Given the description of an element on the screen output the (x, y) to click on. 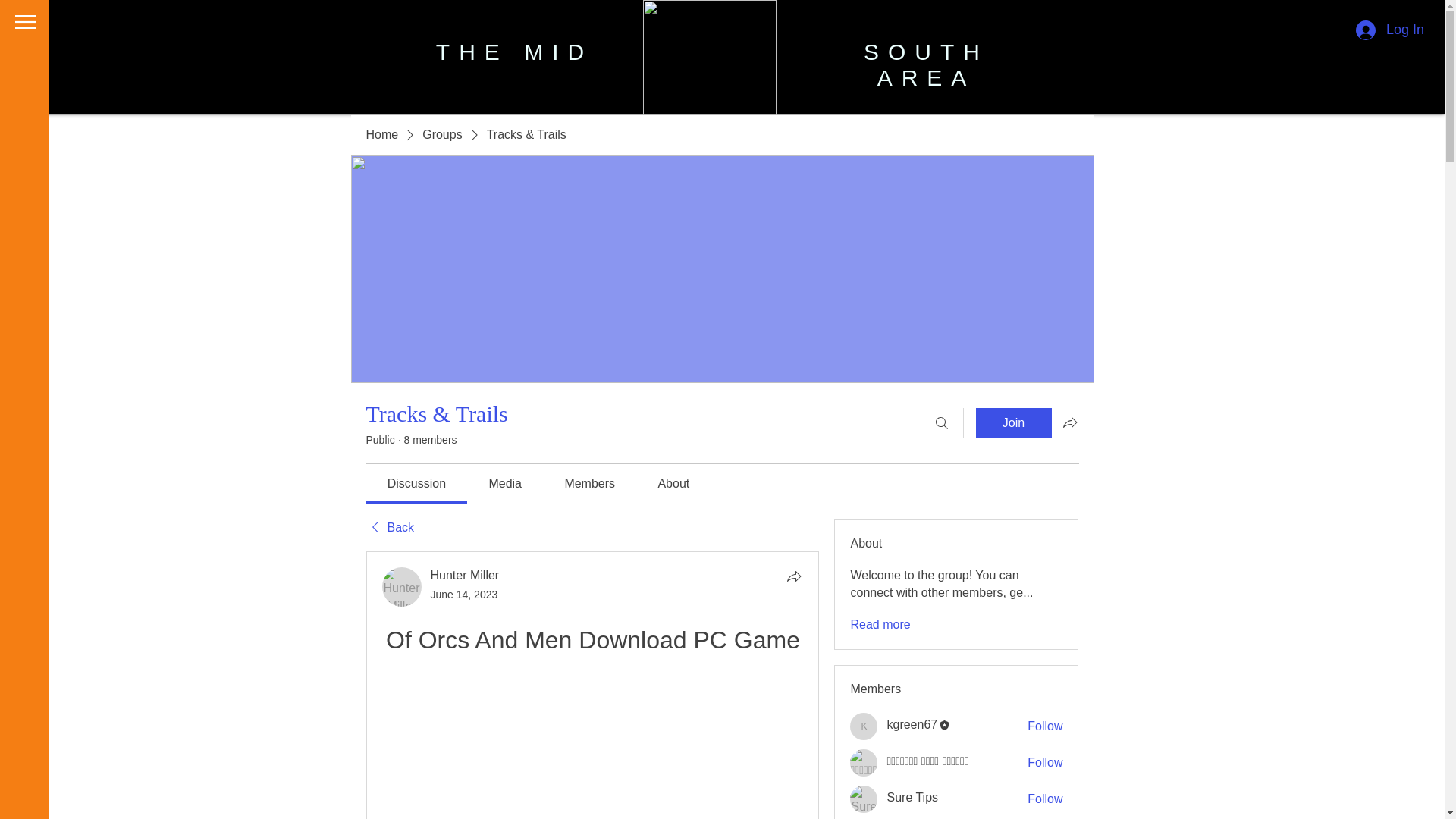
DESTINED 2 WIN-2.png (709, 66)
THE MID (513, 51)
Sure Tips (911, 797)
Read more (880, 624)
Follow (1044, 726)
Log In (1389, 30)
Sure Tips (863, 799)
SOUTH AREA (925, 64)
kgreen67 (863, 726)
Follow (1044, 762)
Follow (1044, 799)
Home (381, 134)
Groups (441, 134)
Back (389, 527)
Hunter Miller (464, 574)
